Given the description of an element on the screen output the (x, y) to click on. 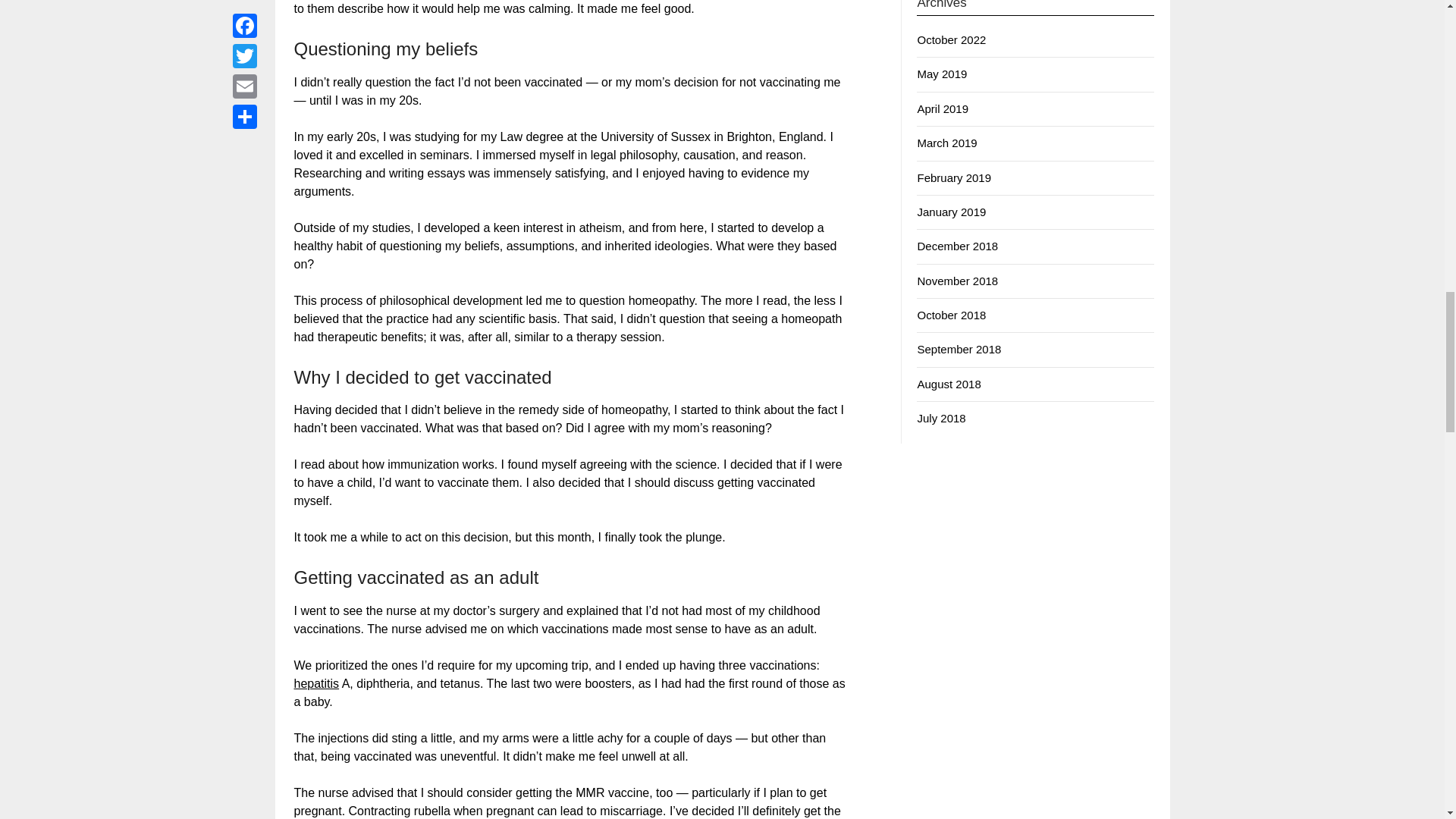
What's to know about viral hepatitis? (316, 683)
hepatitis (316, 683)
